Given the description of an element on the screen output the (x, y) to click on. 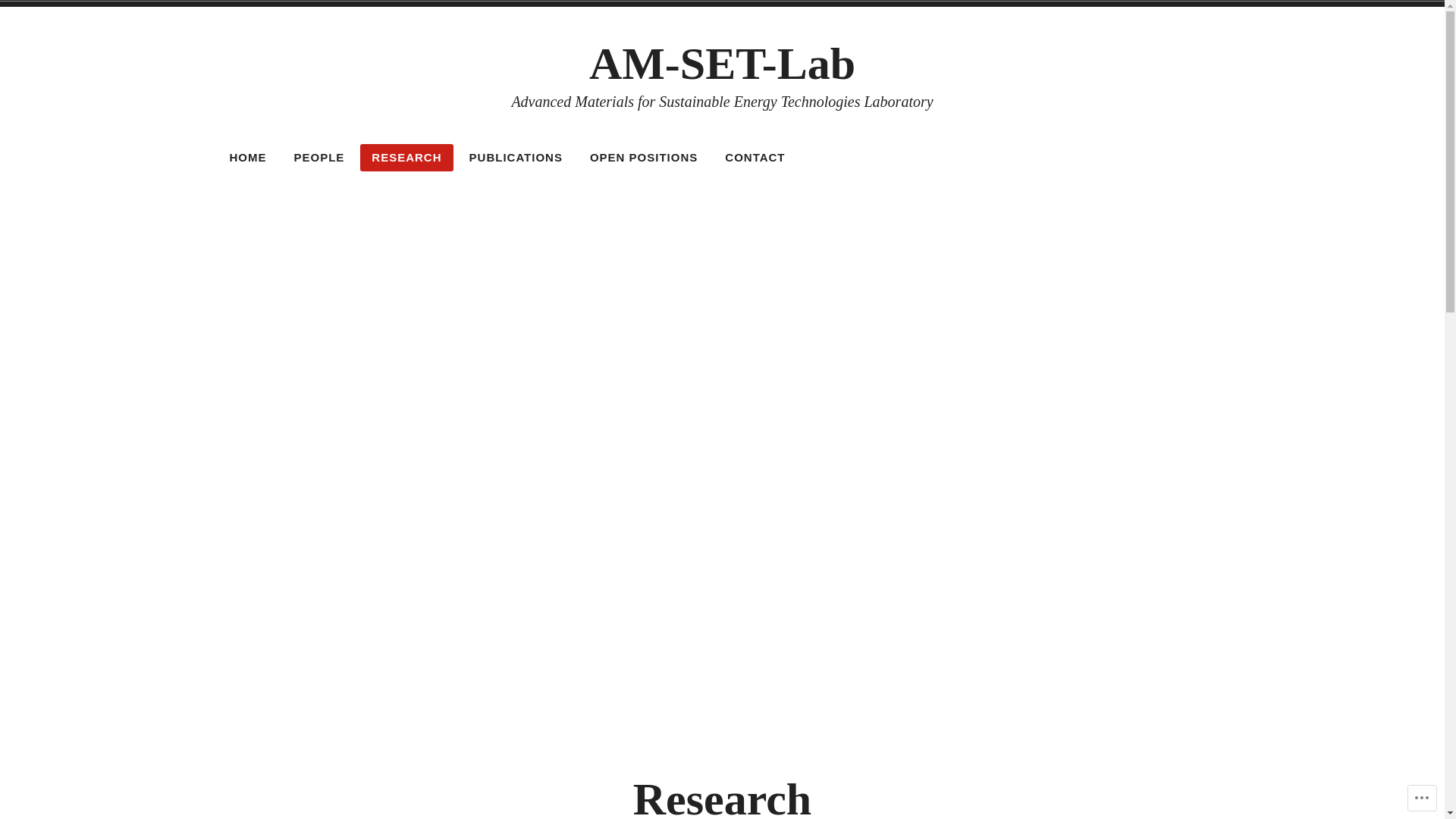
PEOPLE Element type: text (318, 157)
HOME Element type: text (248, 157)
OPEN POSITIONS Element type: text (643, 157)
AM-SET-Lab Element type: text (722, 63)
PUBLICATIONS Element type: text (516, 157)
RESEARCH Element type: text (406, 157)
CONTACT Element type: text (754, 157)
